Given the description of an element on the screen output the (x, y) to click on. 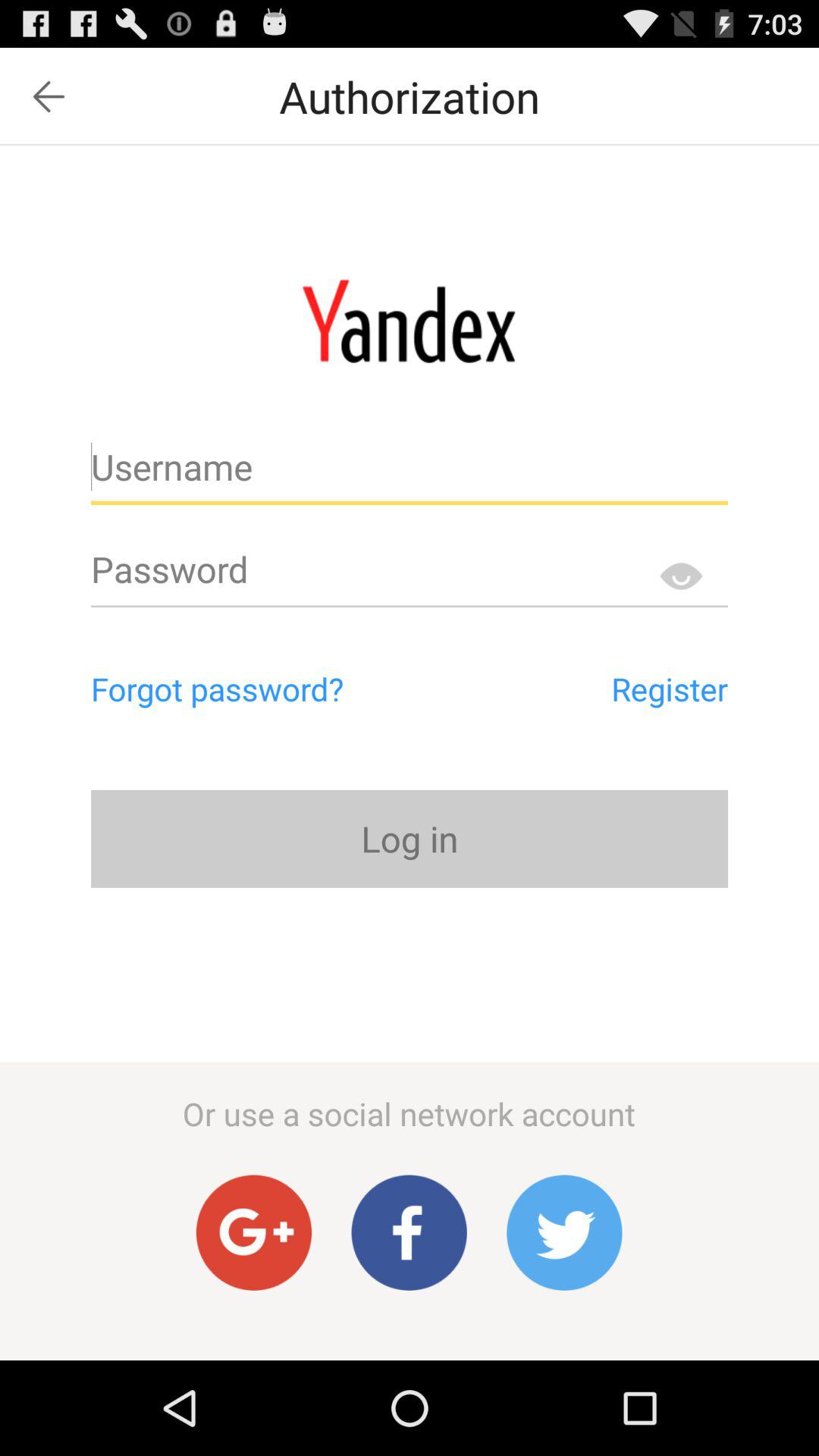
launch the item above the log in icon (282, 688)
